Given the description of an element on the screen output the (x, y) to click on. 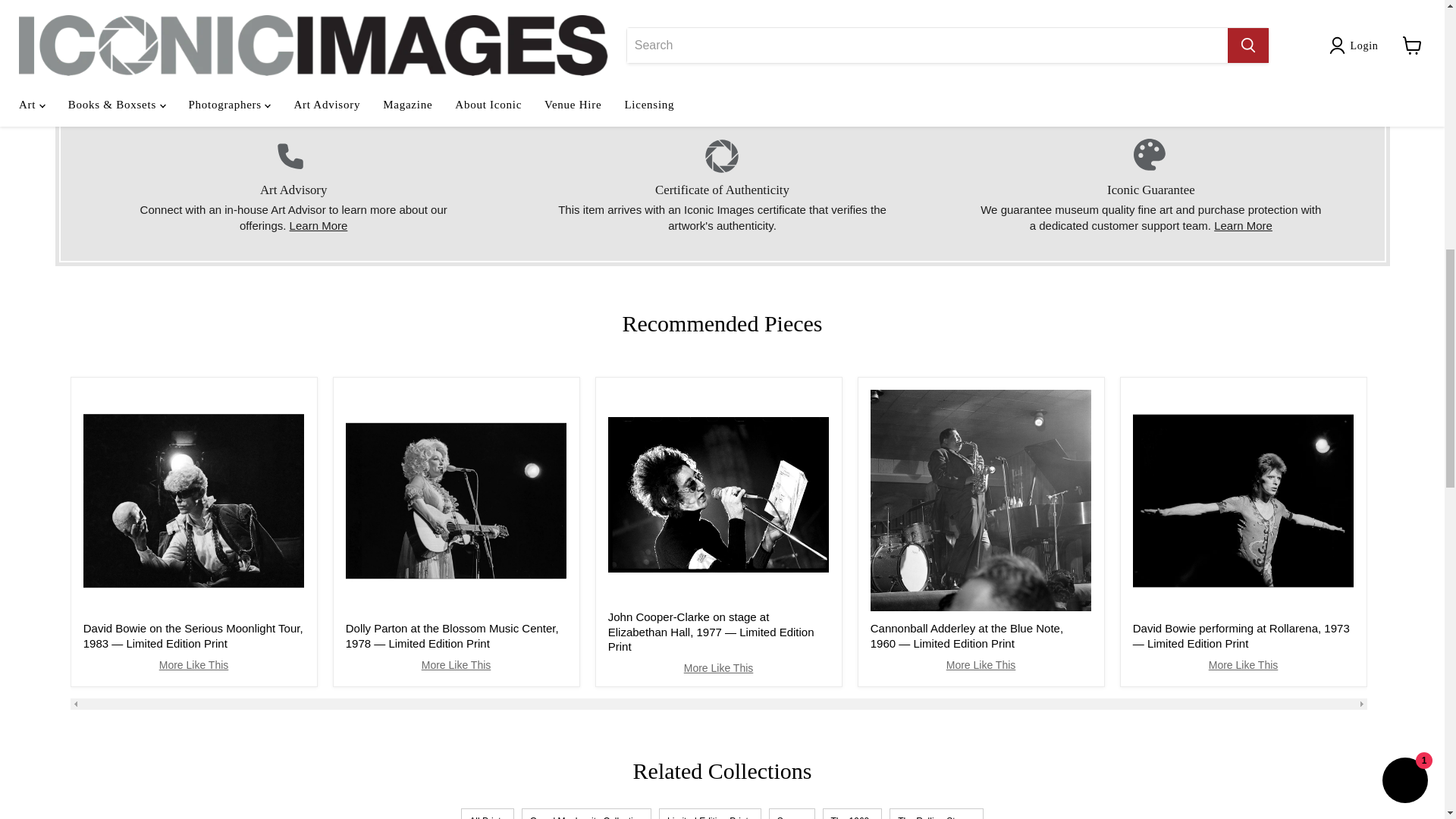
Iconic Guarantee (1243, 225)
Art Advisory (318, 225)
